Given the description of an element on the screen output the (x, y) to click on. 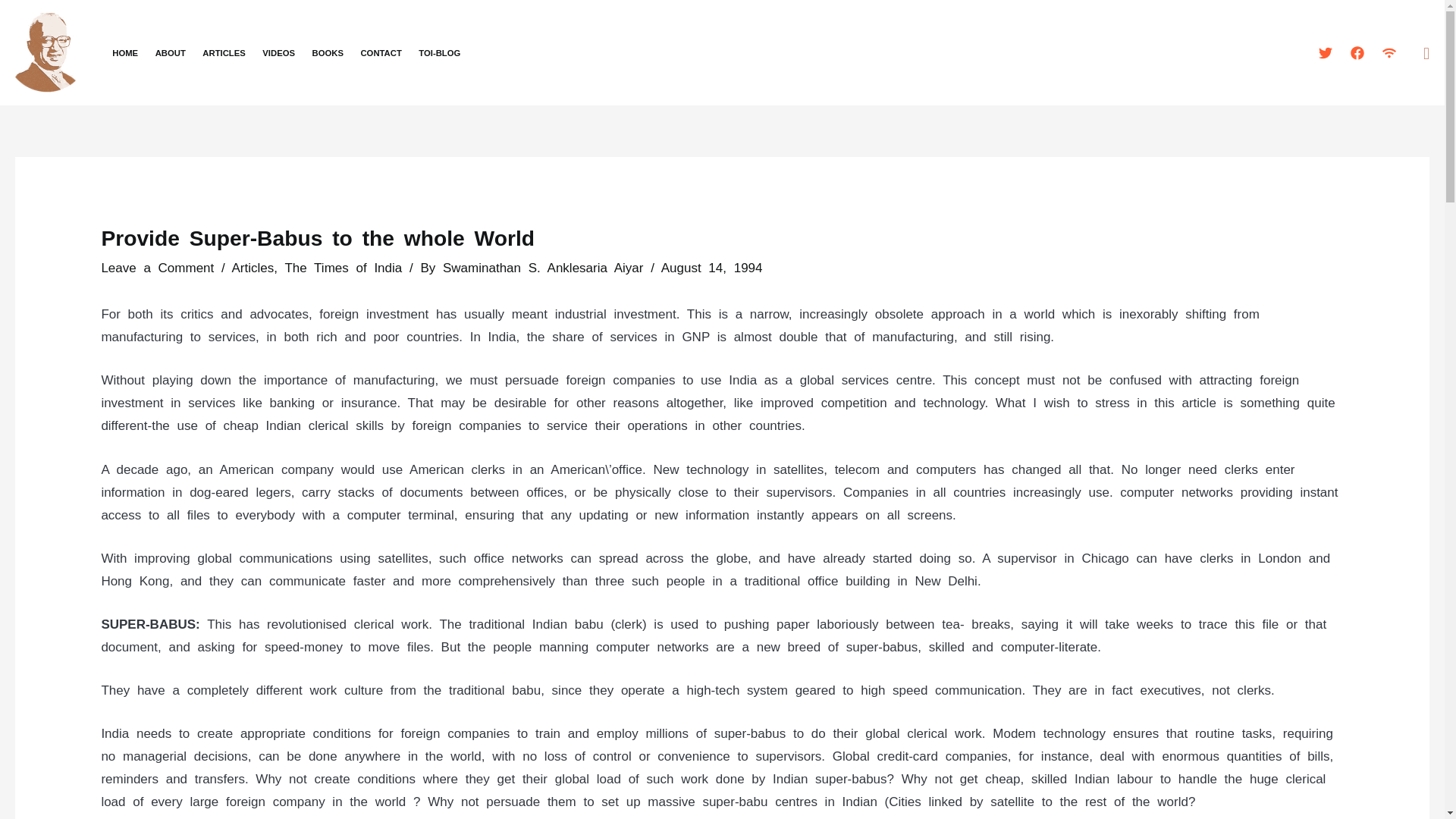
View all posts by Swaminathan S. Anklesaria Aiyar (546, 268)
Articles (253, 268)
Leave a Comment (157, 268)
Swaminathan S. Anklesaria Aiyar (546, 268)
The Times of India (342, 268)
